Given the description of an element on the screen output the (x, y) to click on. 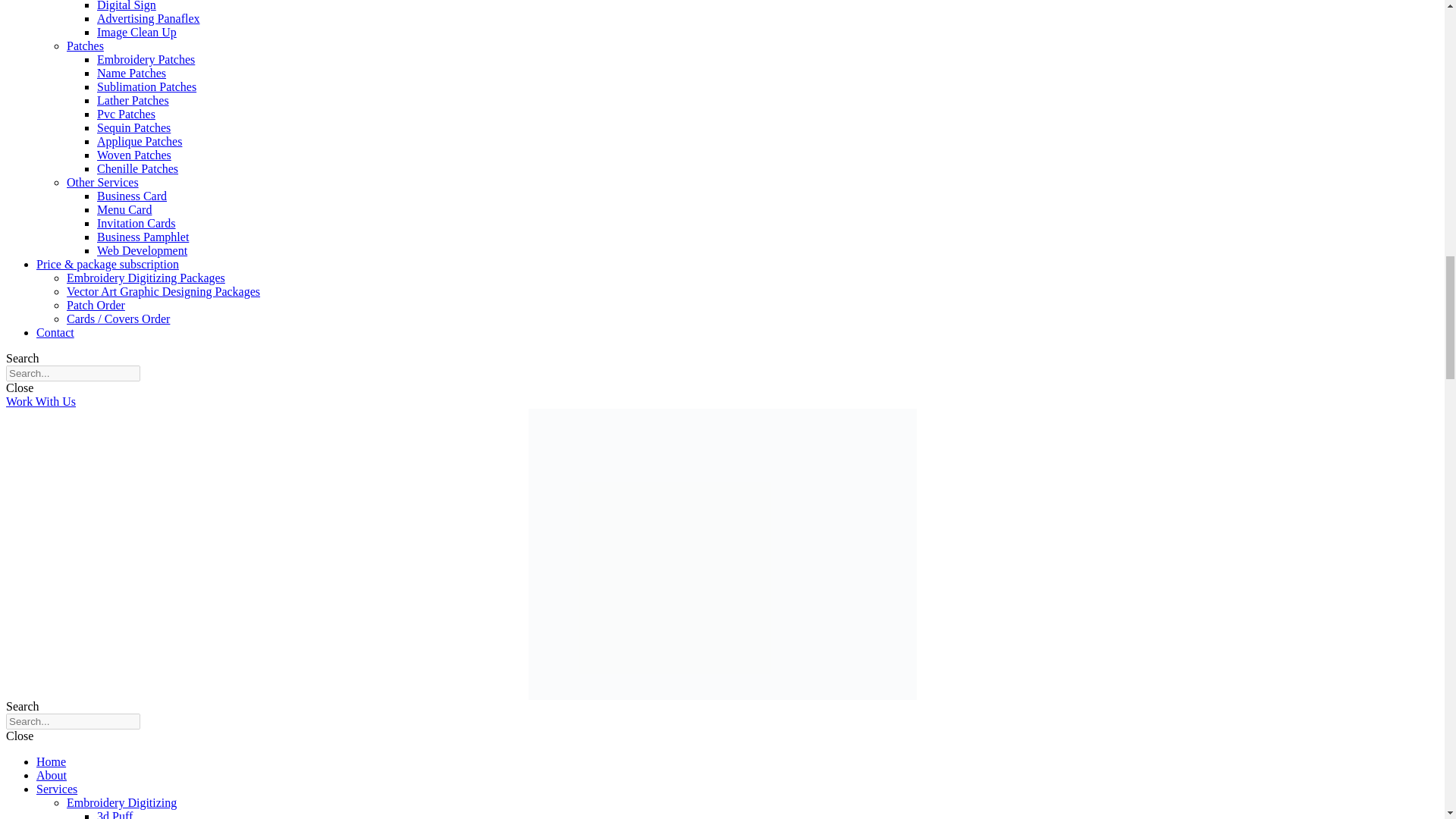
Search (72, 373)
Search (72, 721)
